Given the description of an element on the screen output the (x, y) to click on. 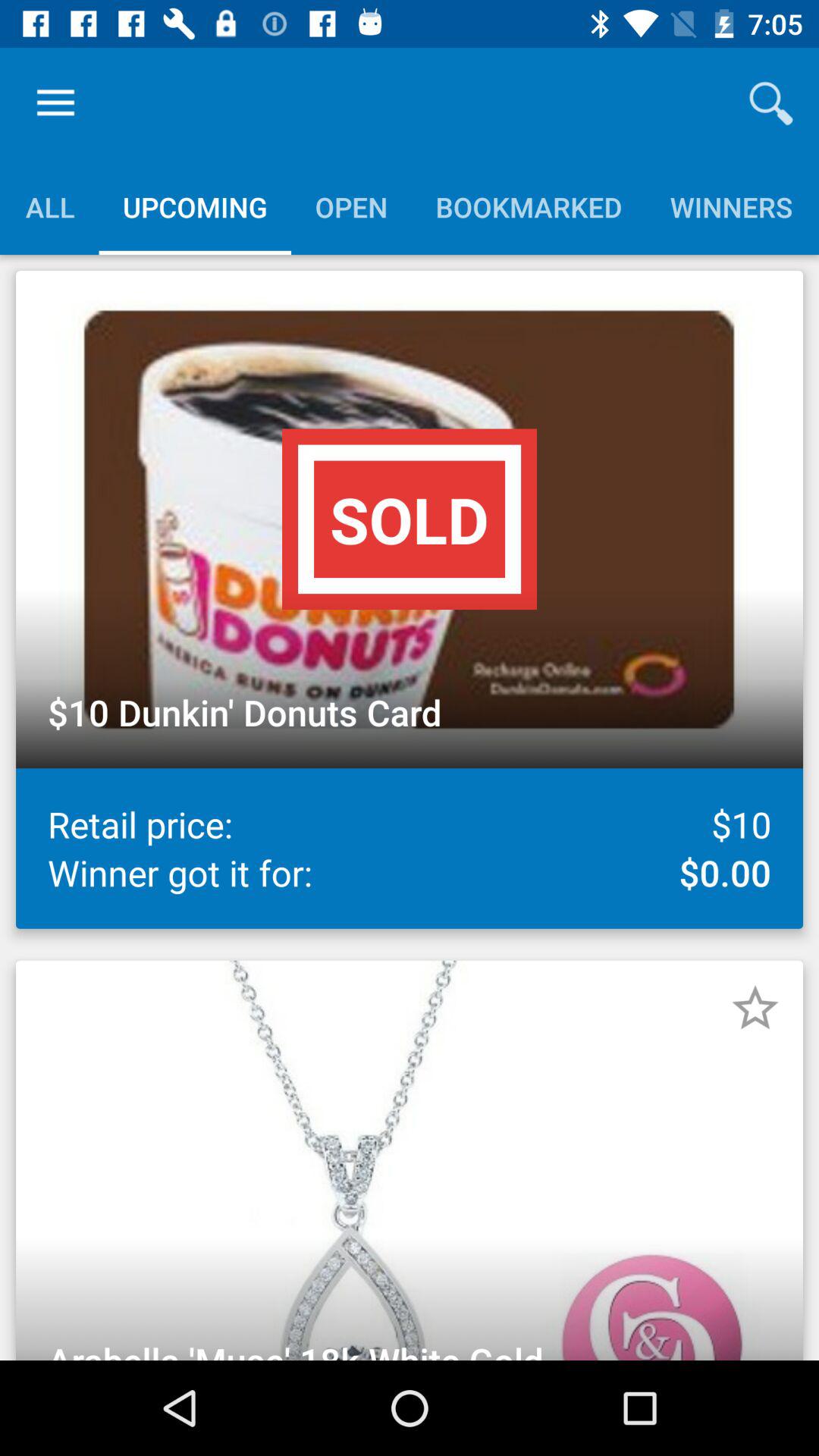
star item as favorite (755, 1008)
